Given the description of an element on the screen output the (x, y) to click on. 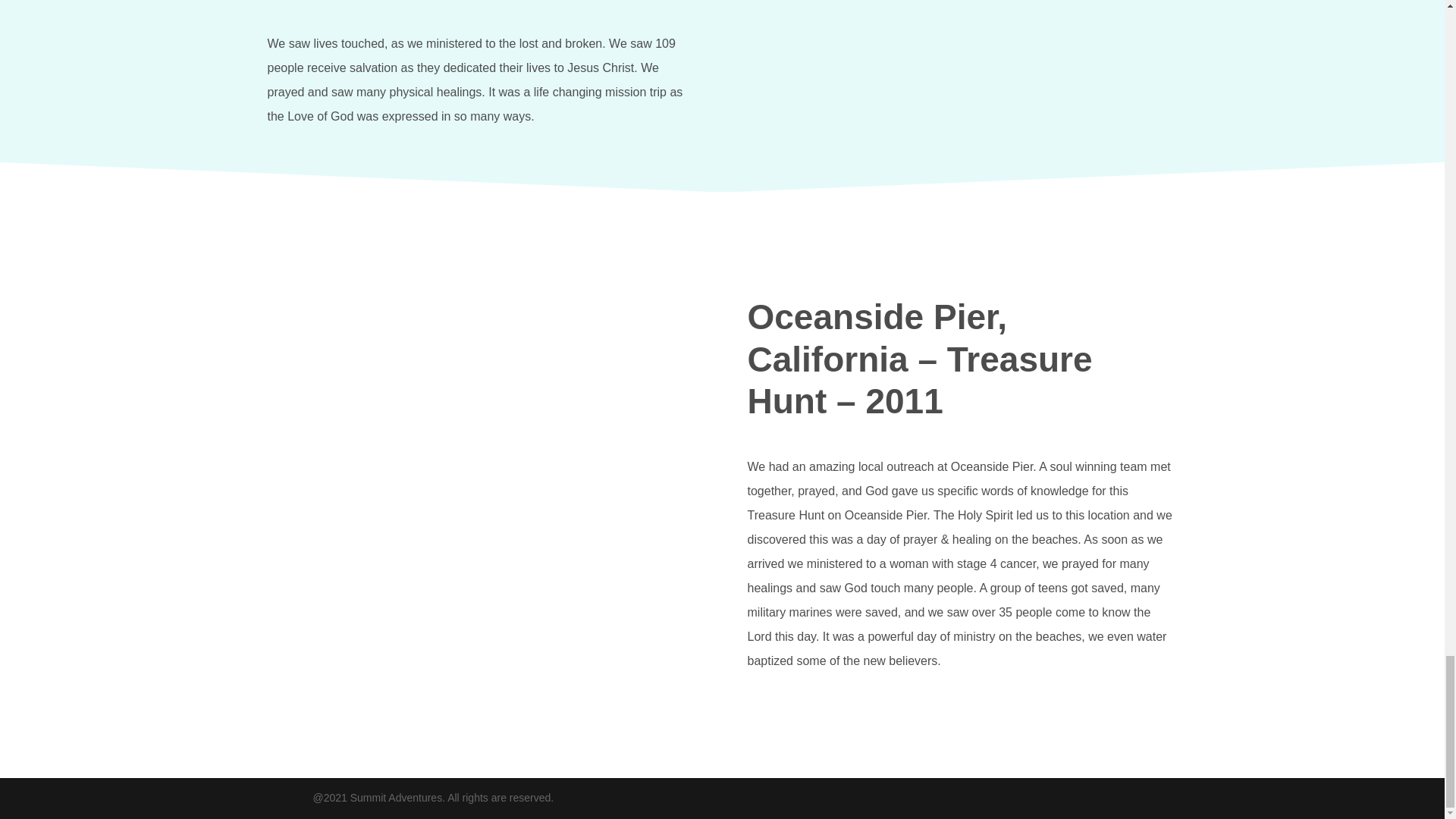
Oceanside - 2011 (481, 417)
